Given the description of an element on the screen output the (x, y) to click on. 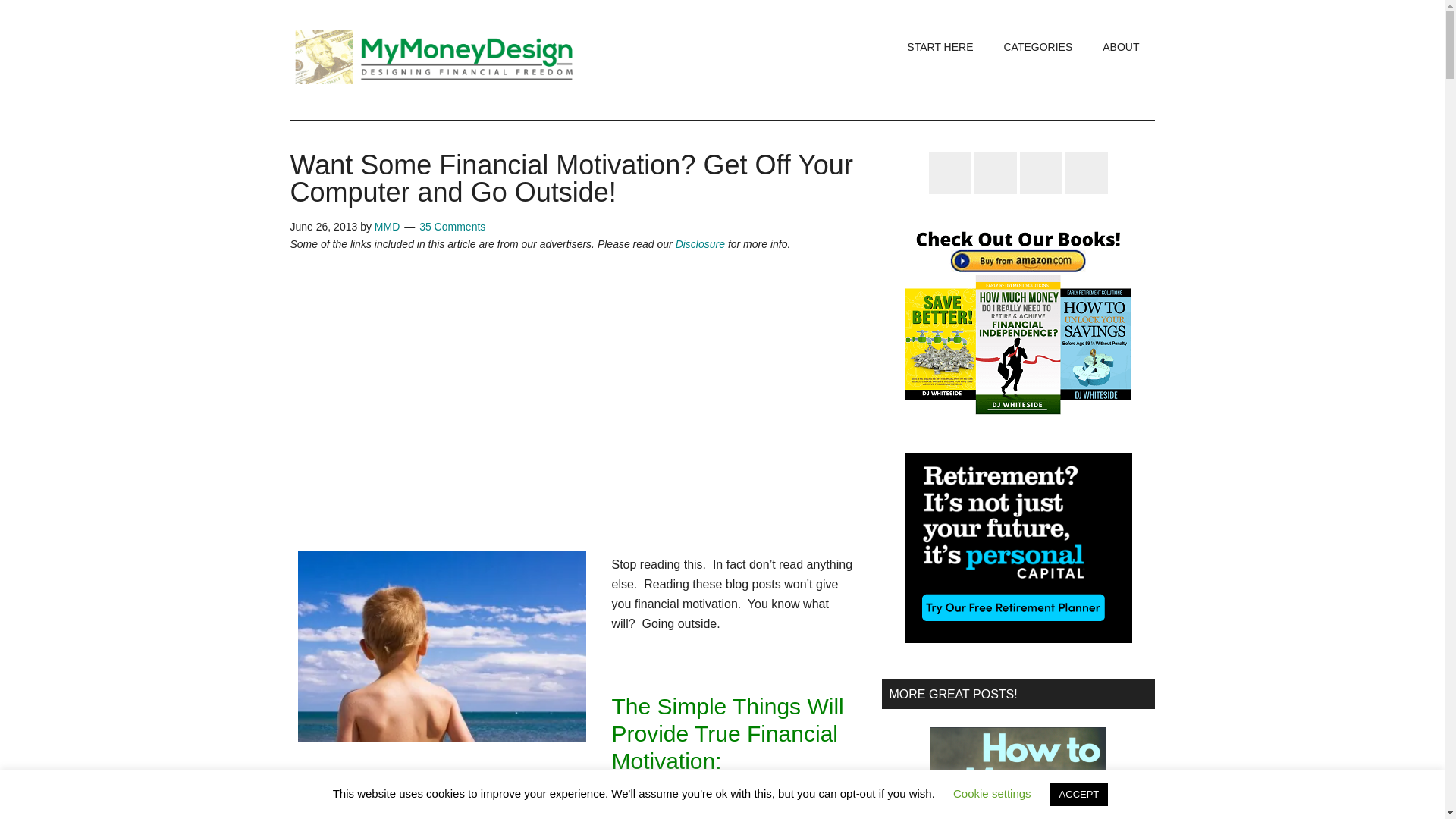
35 Comments (451, 226)
Advertisement (574, 389)
MMD (386, 226)
CATEGORIES (1037, 46)
Child On A Beach by chrisroll (450, 655)
START HERE (939, 46)
ABOUT (1120, 46)
Child On A Beach by chrisroll (440, 646)
Disclosure (700, 244)
